Given the description of an element on the screen output the (x, y) to click on. 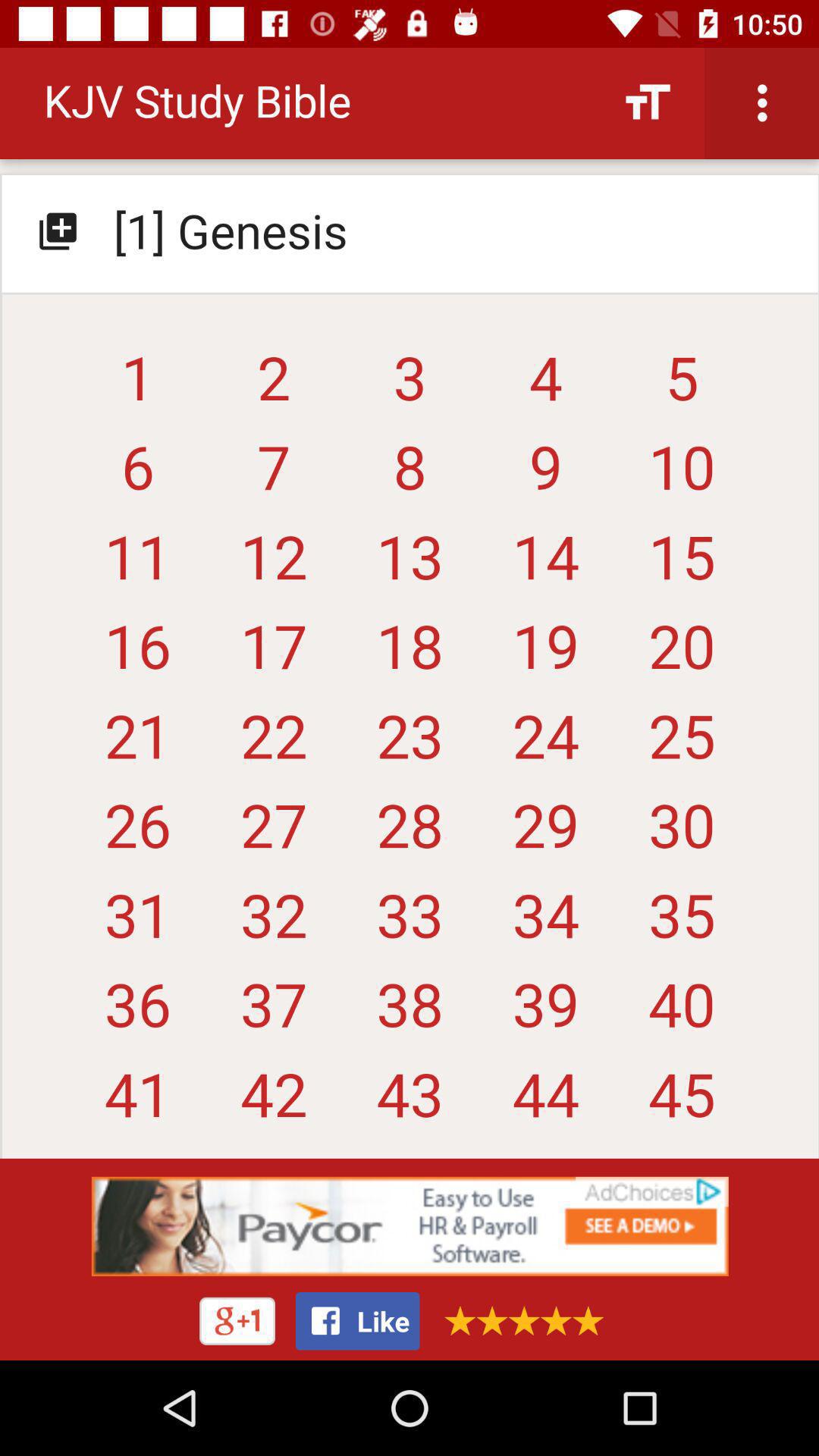
rate the app (518, 1320)
